Given the description of an element on the screen output the (x, y) to click on. 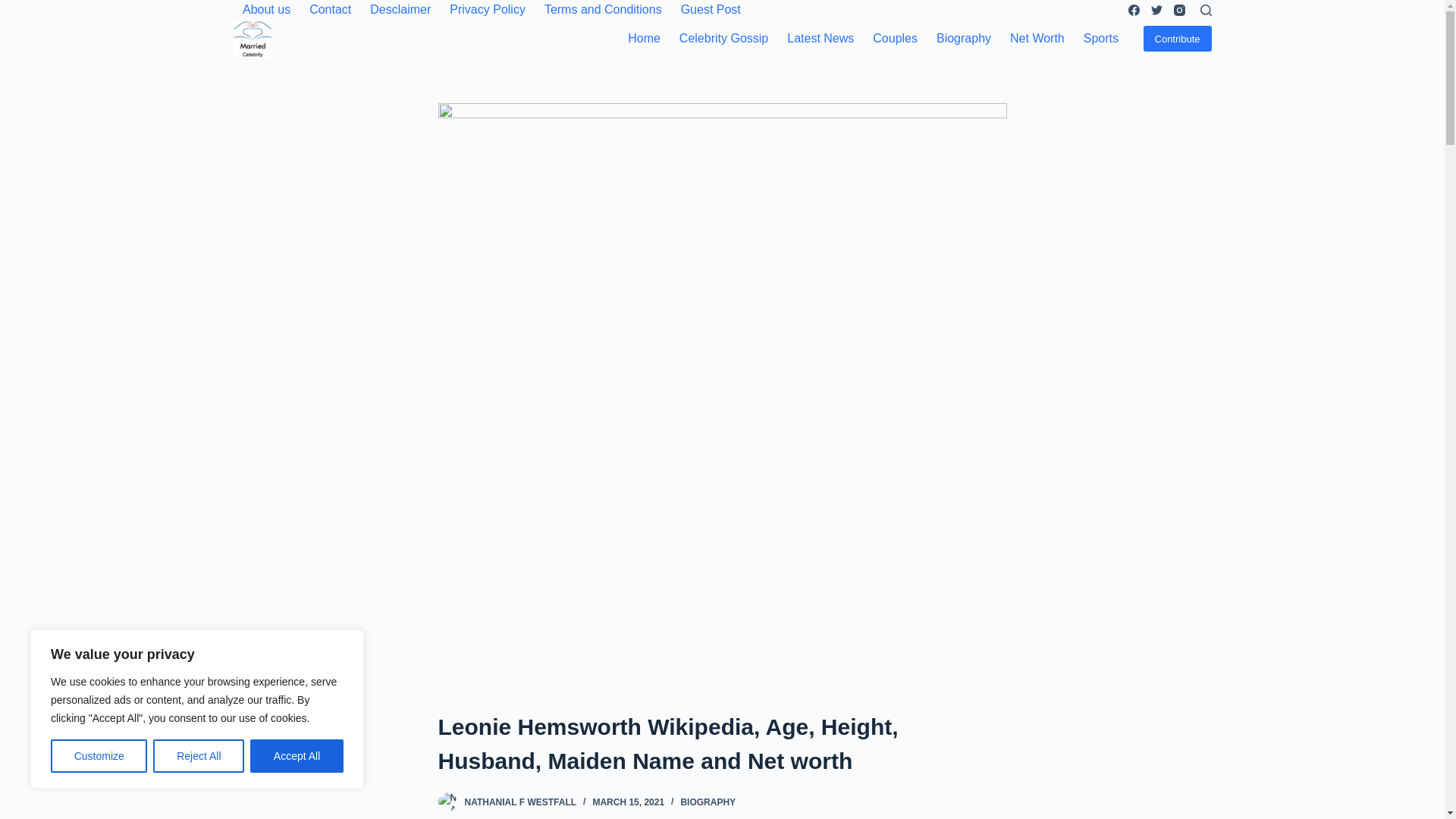
Customize (98, 756)
Skip to content (15, 7)
Latest News (820, 38)
Biography (963, 38)
Contact (330, 9)
Desclaimer (401, 9)
Contribute (1176, 38)
Reject All (198, 756)
Terms and Conditions (602, 9)
Posts by Nathanial F Westfall (520, 801)
Net Worth (1037, 38)
About us (265, 9)
NATHANIAL F WESTFALL (520, 801)
Home (643, 38)
Sports (1100, 38)
